Given the description of an element on the screen output the (x, y) to click on. 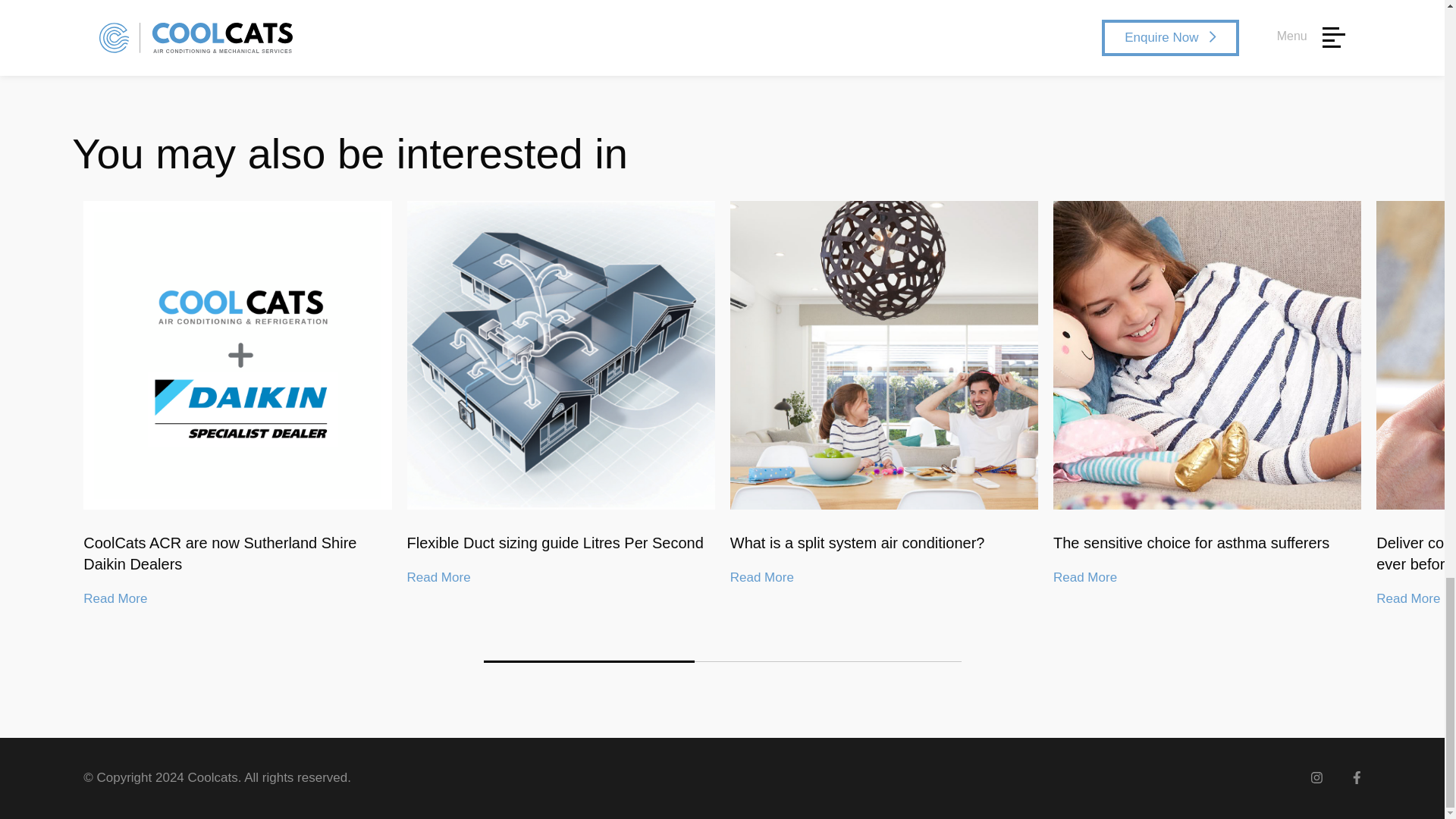
Read More (1084, 577)
Read More (114, 598)
Read More (1407, 598)
Read More (438, 577)
Read More (761, 577)
